Given the description of an element on the screen output the (x, y) to click on. 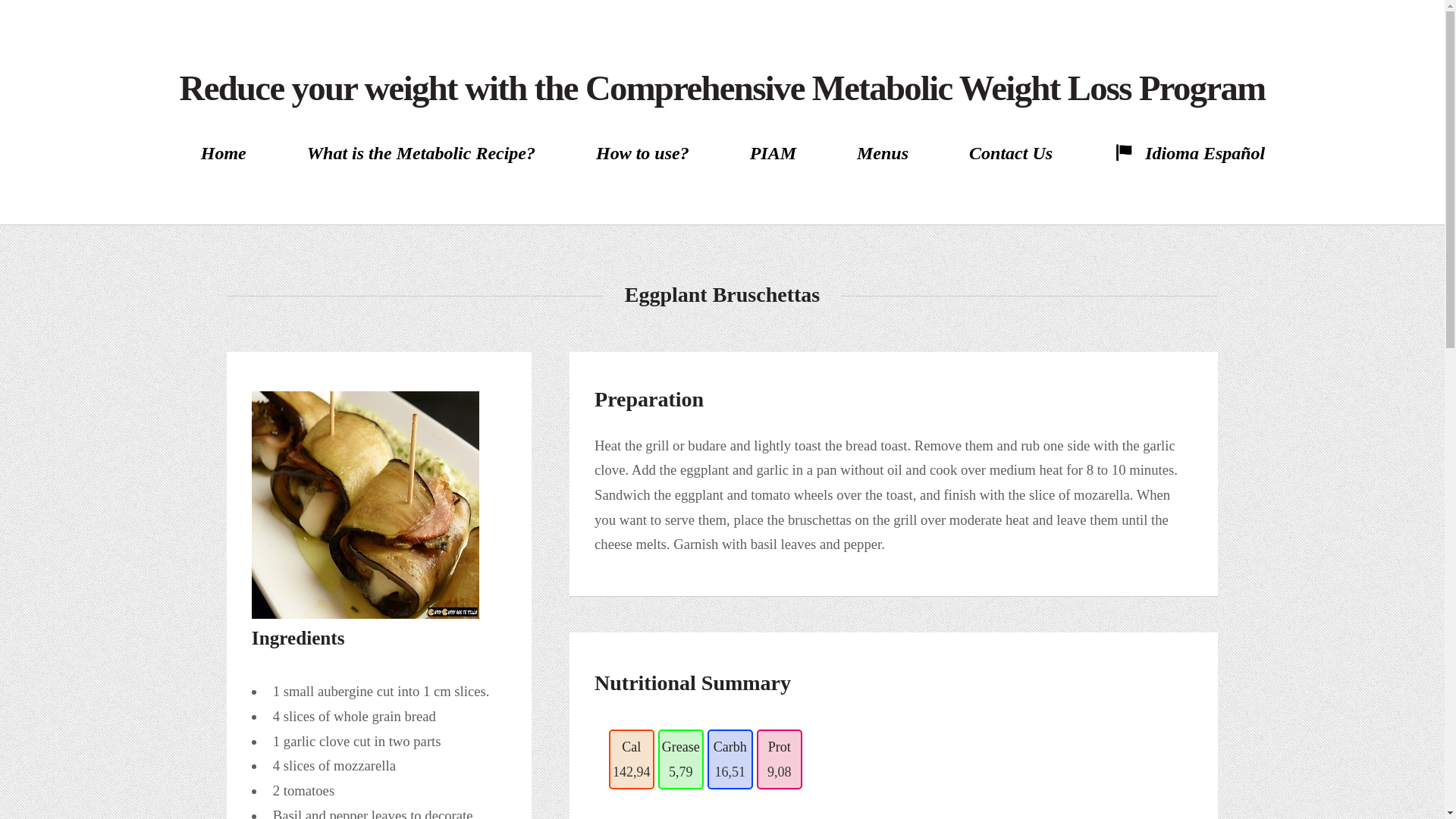
Contact Us (1010, 153)
Menus (882, 153)
PIAM (773, 153)
What is the Metabolic Recipe? (421, 153)
Home (223, 153)
How to use? (641, 153)
